Given the description of an element on the screen output the (x, y) to click on. 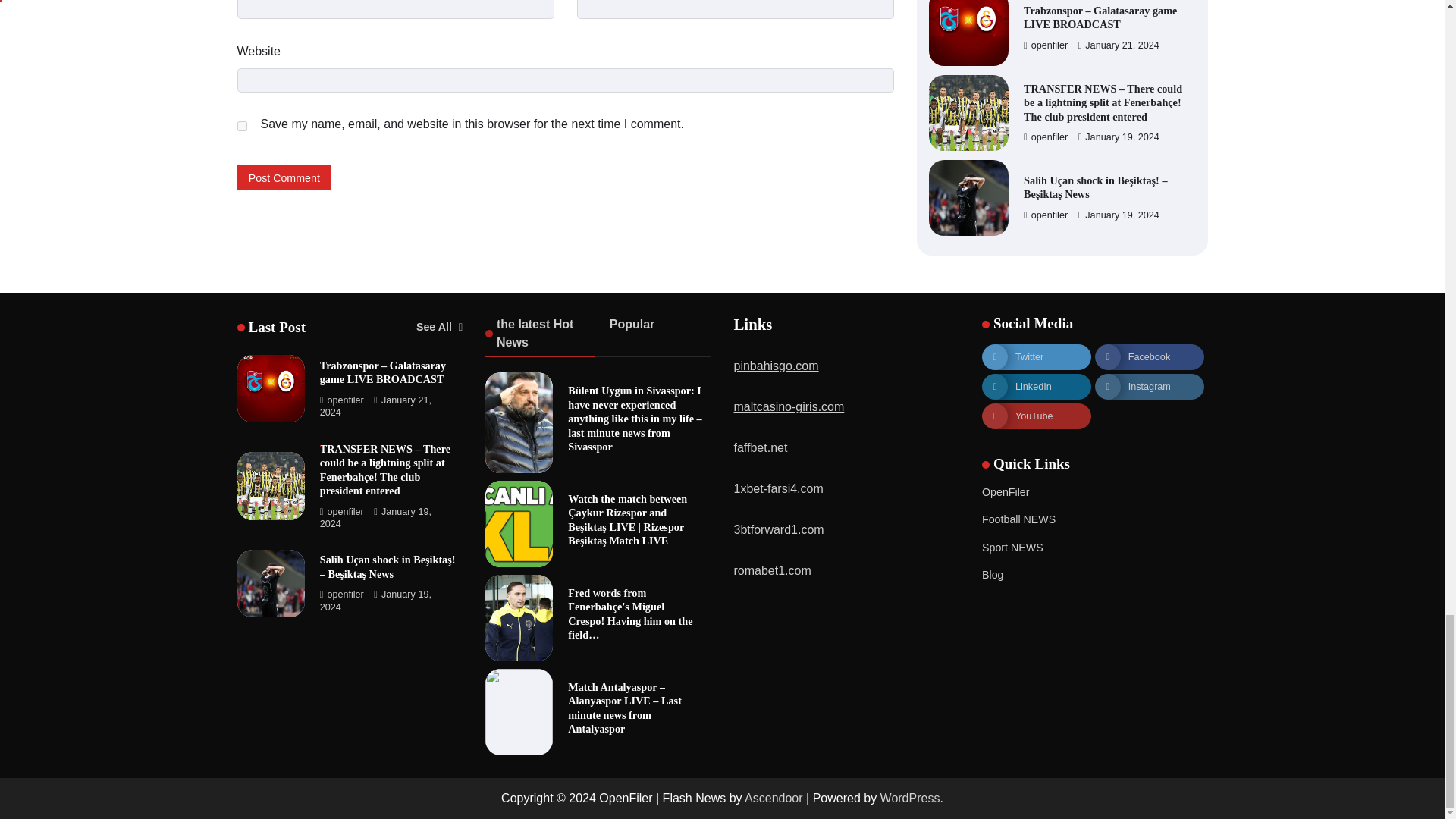
Post Comment (283, 177)
yes (240, 126)
Post Comment (283, 177)
